Given the description of an element on the screen output the (x, y) to click on. 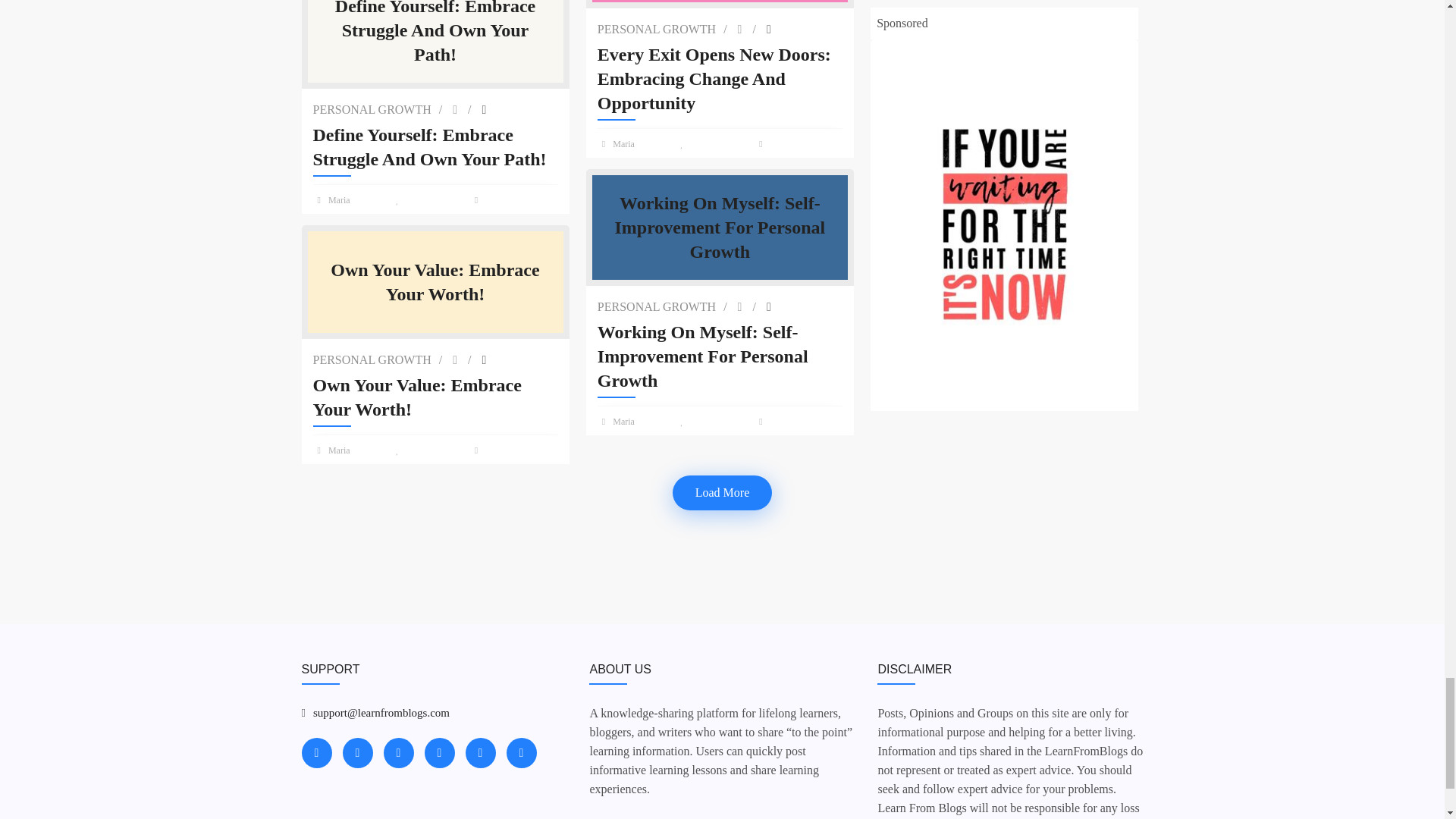
Working On Myself: Self-Improvement For Personal Growth (719, 356)
Every Exit Opens New Doors: Embracing Change And Opportunity (719, 78)
Define Yourself: Embrace Struggle And Own Your Path! (435, 146)
Own Your Value: Embrace Your Worth! (435, 397)
Load More (721, 492)
